Given the description of an element on the screen output the (x, y) to click on. 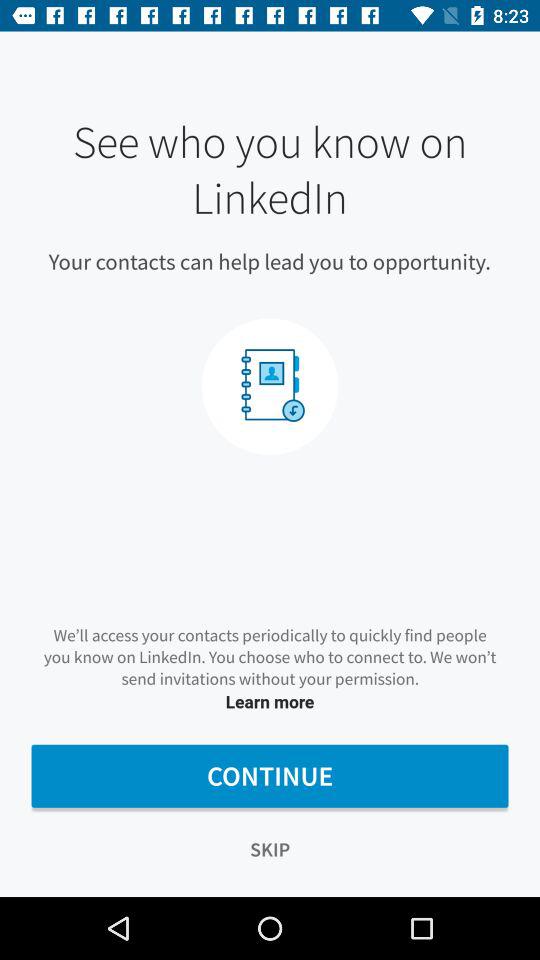
tap the icon below learn more item (269, 775)
